Given the description of an element on the screen output the (x, y) to click on. 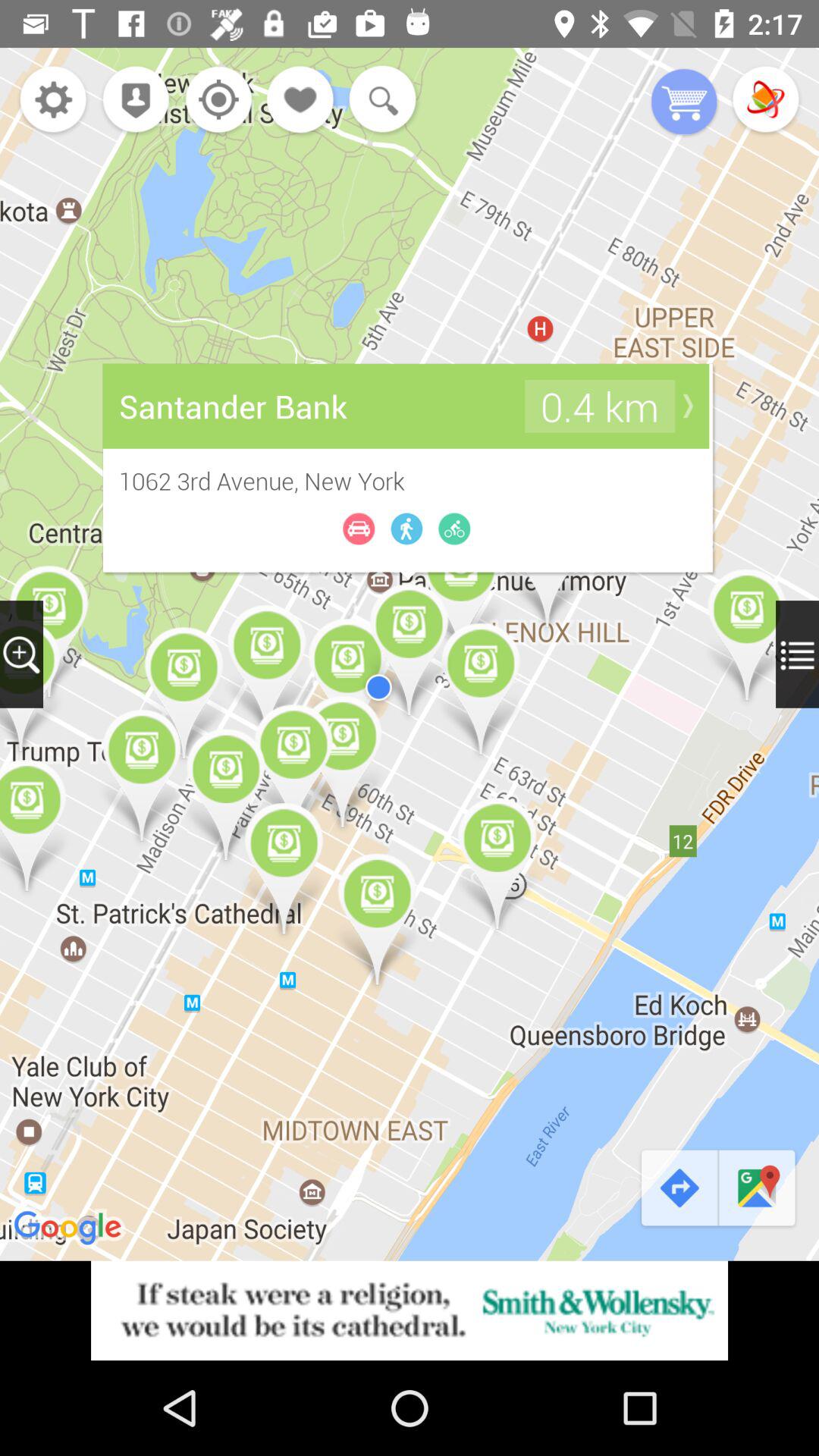
determine the location (214, 101)
